Given the description of an element on the screen output the (x, y) to click on. 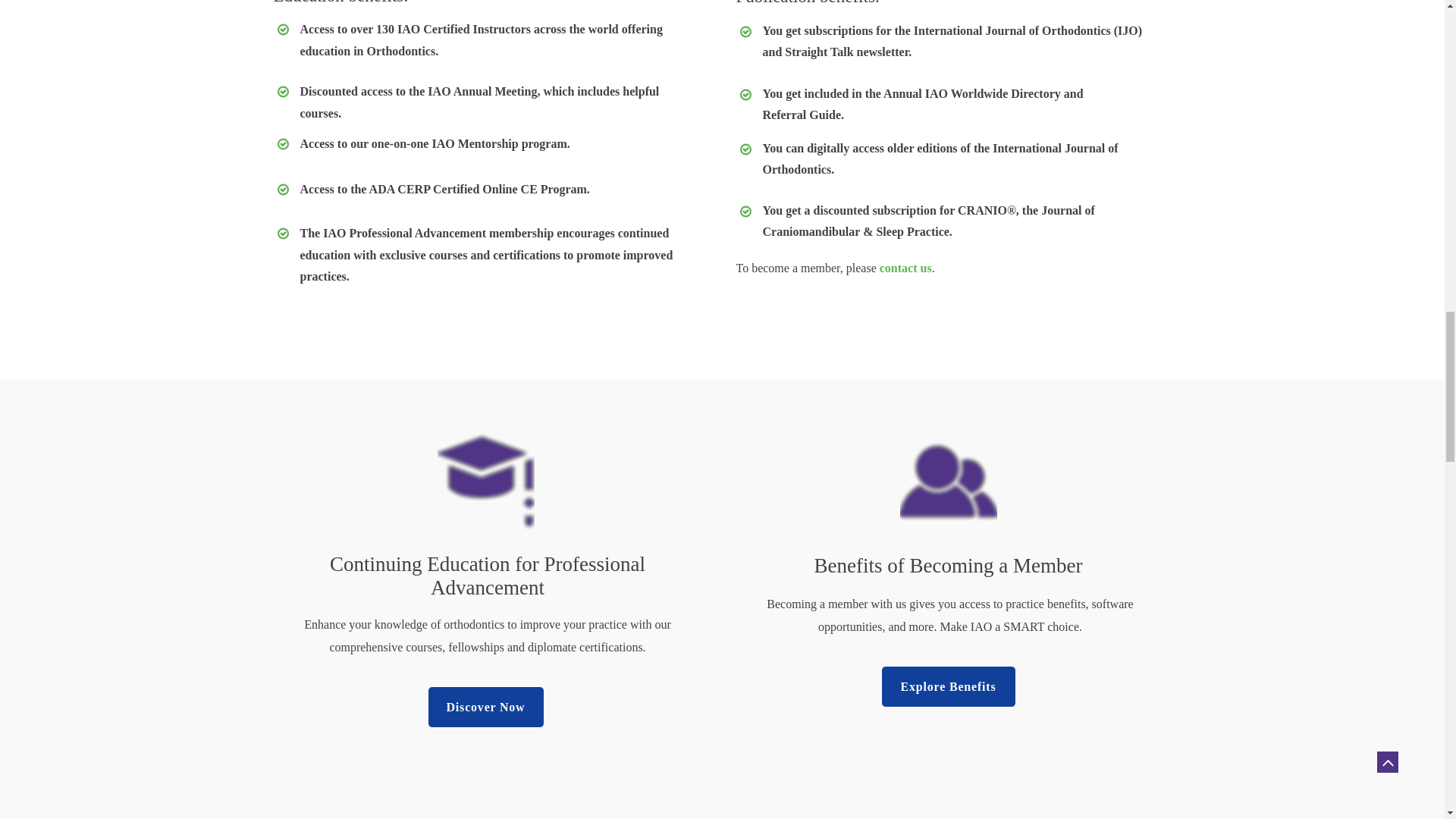
Discover Now (486, 707)
Explore Benefits (948, 686)
contact us (905, 269)
